Given the description of an element on the screen output the (x, y) to click on. 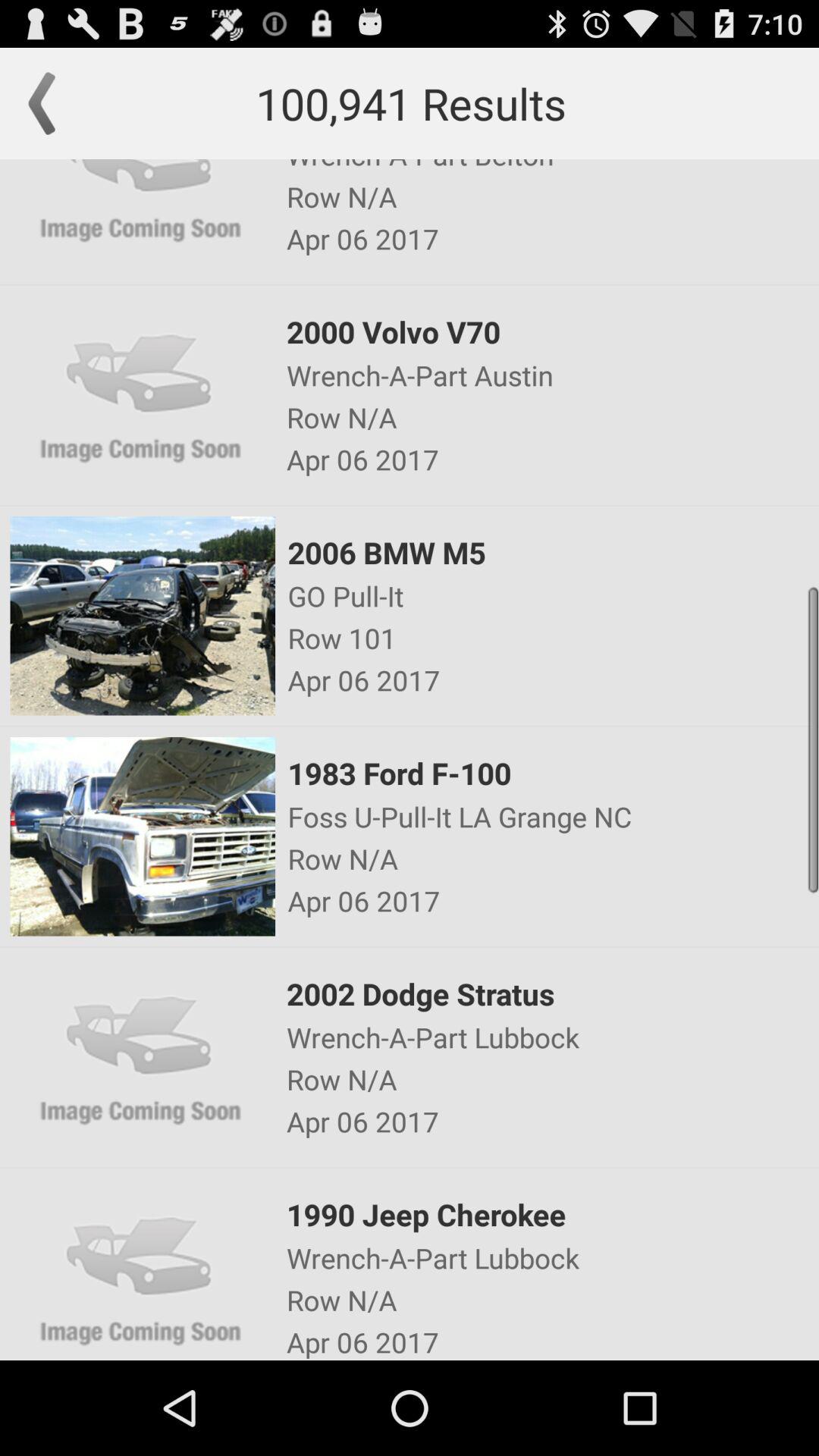
press foss u pull icon (551, 816)
